Given the description of an element on the screen output the (x, y) to click on. 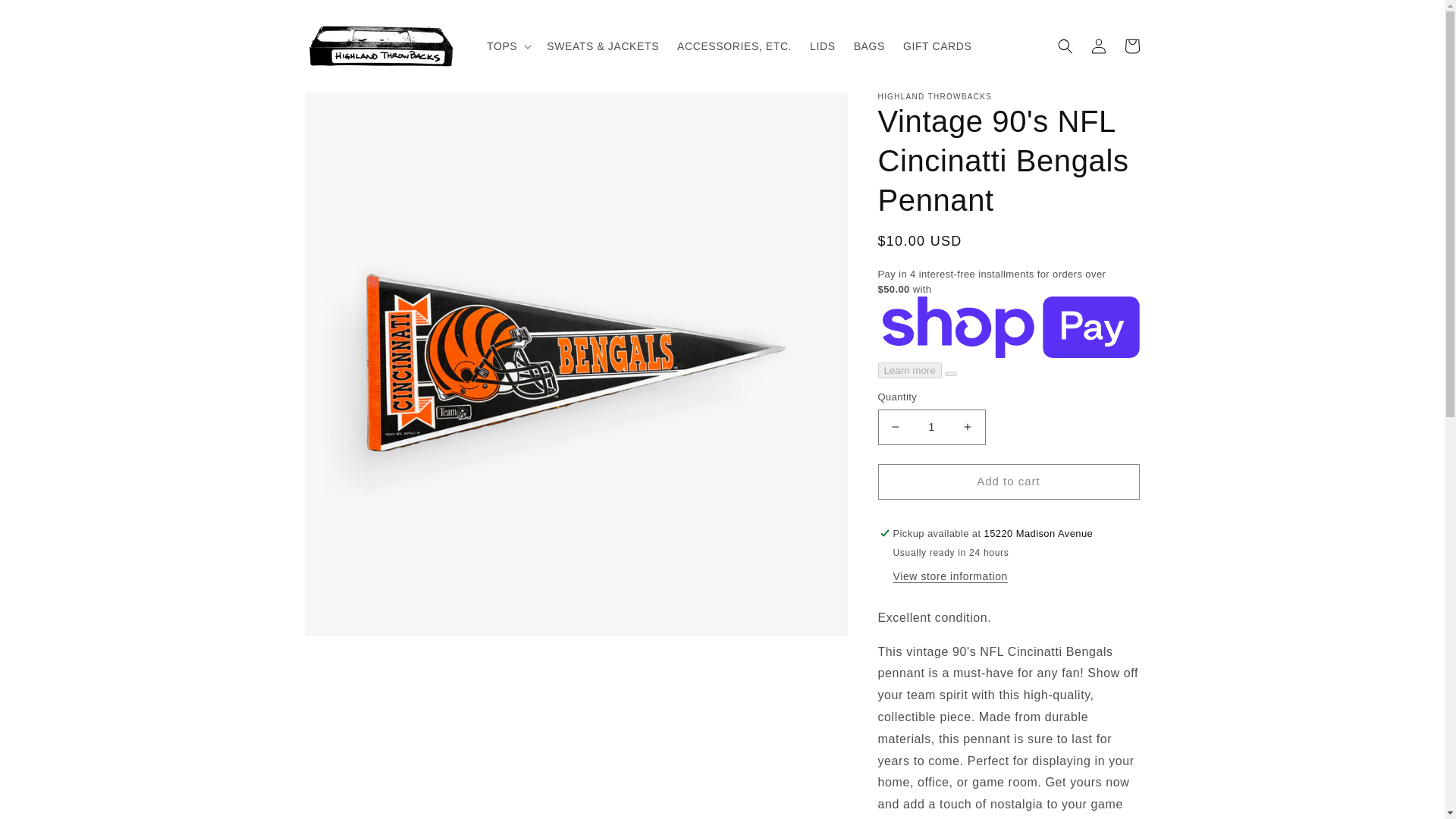
1 (931, 427)
Cart (1131, 46)
Skip to product information (350, 109)
BAGS (868, 46)
Skip to content (45, 17)
ACCESSORIES, ETC. (734, 46)
Log in (1098, 46)
LIDS (822, 46)
GIFT CARDS (937, 46)
